Given the description of an element on the screen output the (x, y) to click on. 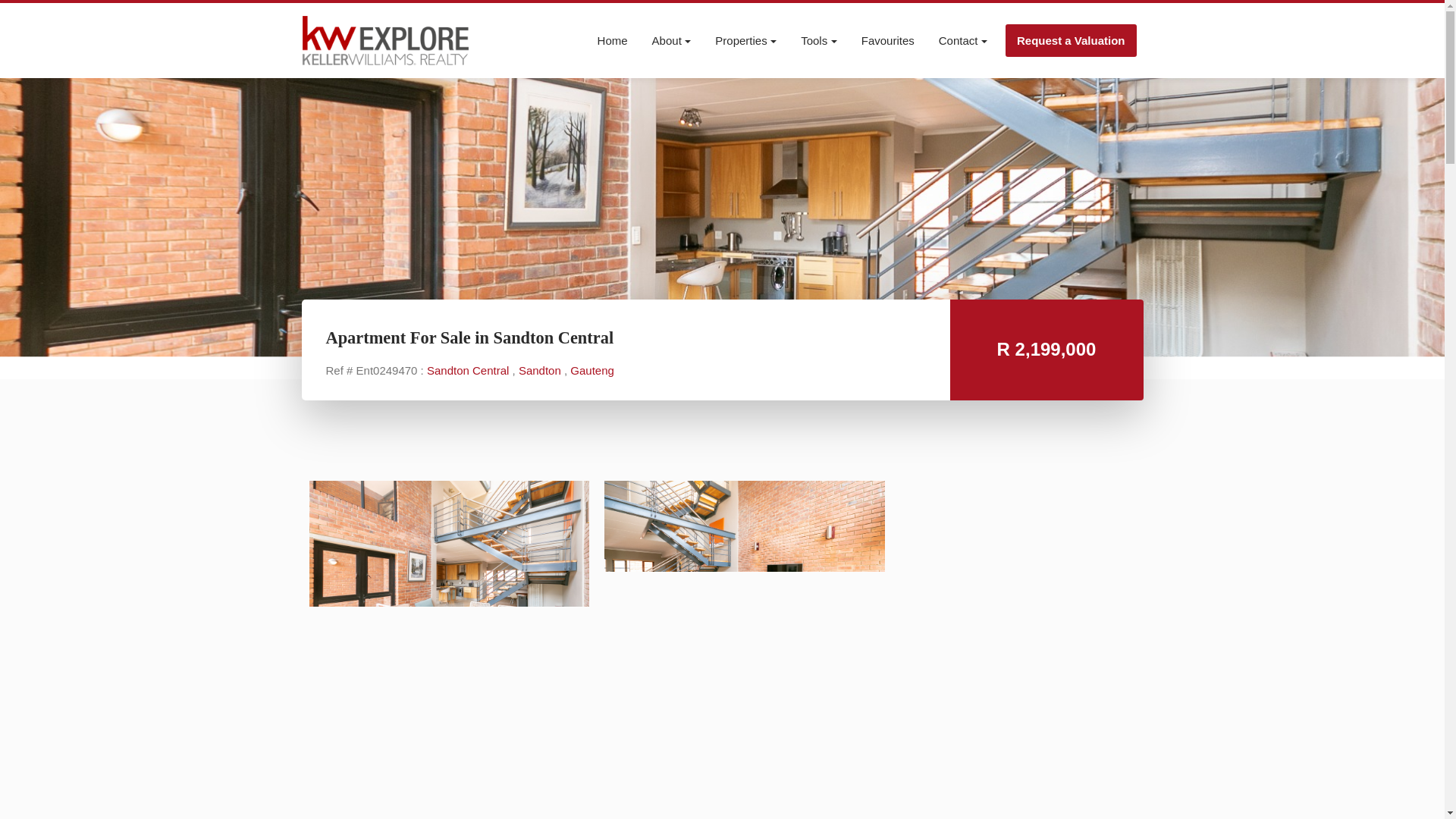
Gauteng (592, 369)
Tools (818, 40)
Properties (746, 40)
Request a Valuation (1071, 40)
Home (612, 40)
About (671, 40)
Sandton Central (469, 369)
Favourites (888, 40)
Sandton (541, 369)
Contact (962, 40)
